Given the description of an element on the screen output the (x, y) to click on. 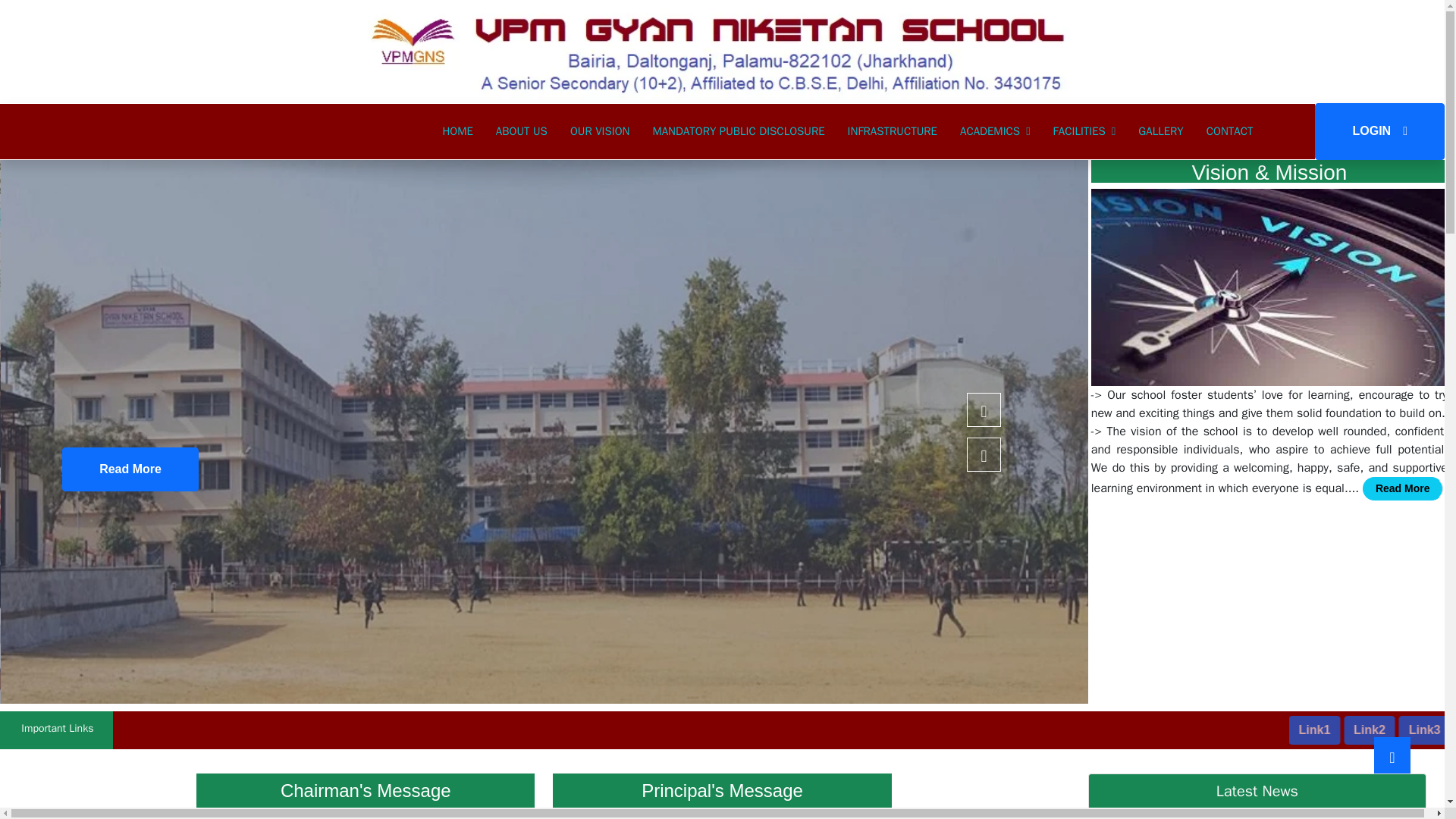
ABOUT US (521, 131)
FACILITIES (1084, 131)
OUR VISION (600, 131)
Read More (130, 469)
INFRASTRUCTURE (892, 131)
MANDATORY PUBLIC DISCLOSURE (738, 131)
LOGIN (1379, 131)
ACADEMICS (994, 131)
